Given the description of an element on the screen output the (x, y) to click on. 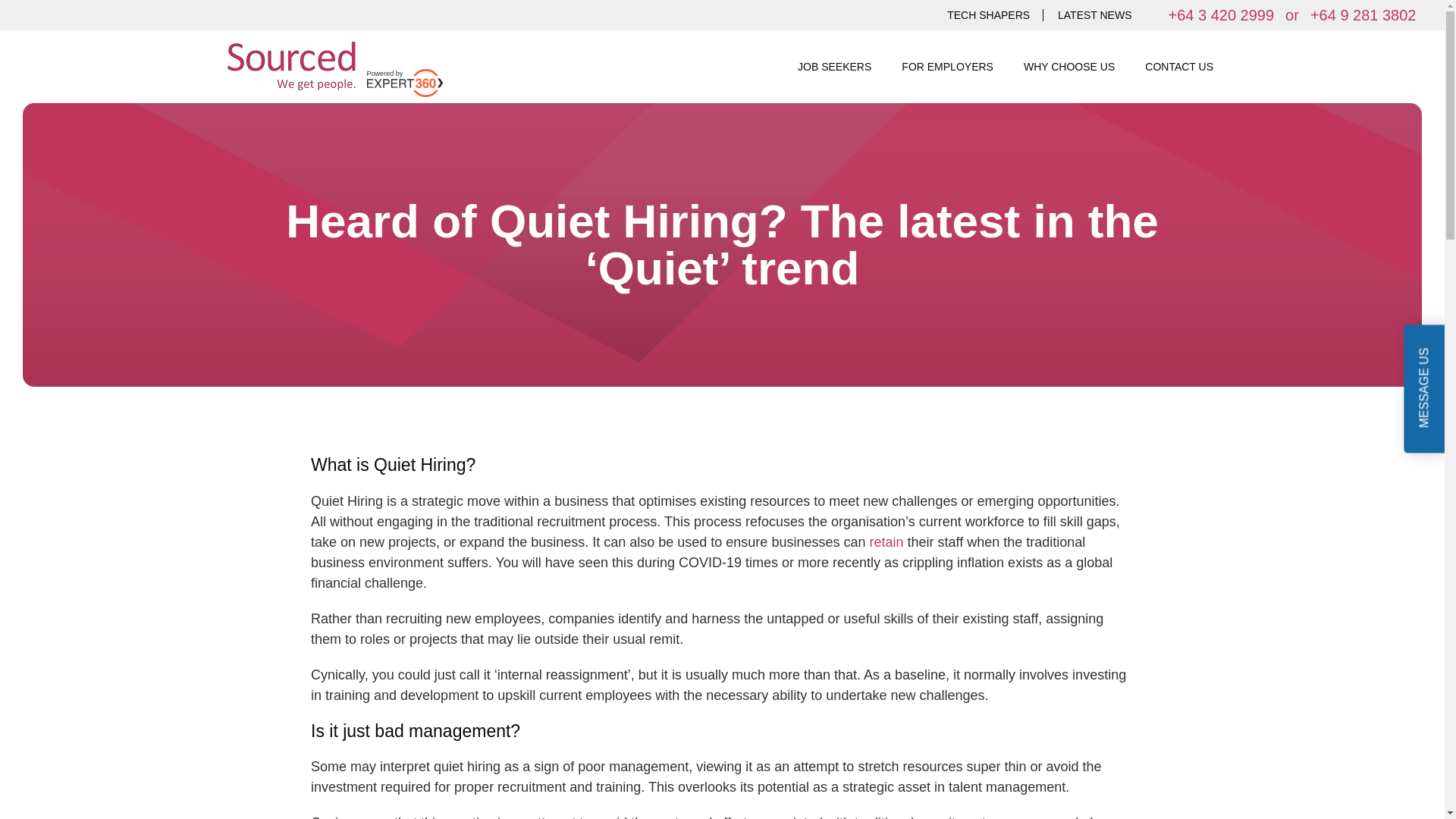
TECH SHAPERS (988, 15)
JOB SEEKERS (836, 66)
LATEST NEWS (1095, 15)
Retaining Your High Performing People (885, 541)
